Given the description of an element on the screen output the (x, y) to click on. 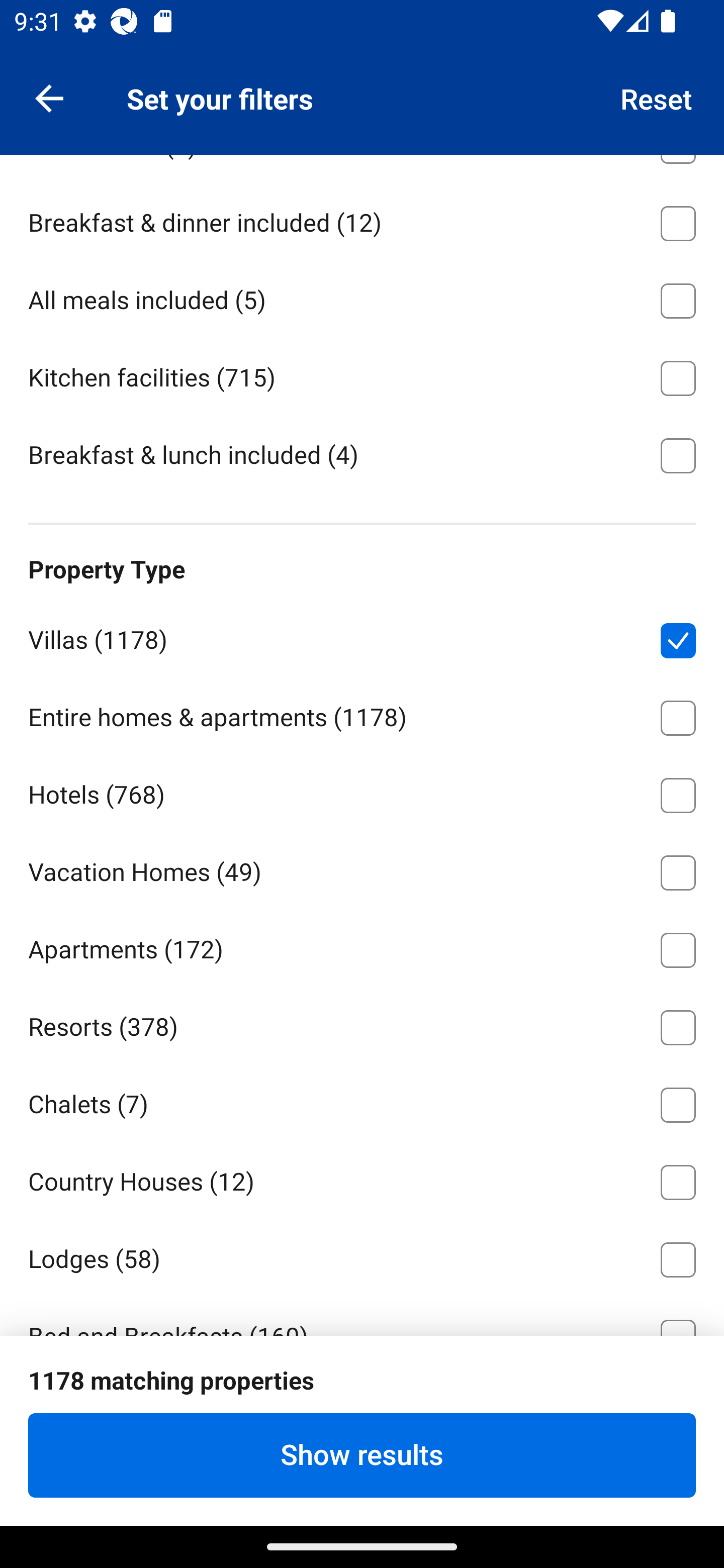
Navigate up (49, 97)
Reset (656, 97)
Breakfast & dinner included ⁦(12) (361, 219)
All meals included ⁦(5) (361, 296)
Kitchen facilities ⁦(715) (361, 374)
Breakfast & lunch included ⁦(4) (361, 453)
Villas ⁦(1178) (361, 636)
Entire homes & apartments ⁦(1178) (361, 713)
Hotels ⁦(768) (361, 791)
Vacation Homes ⁦(49) (361, 869)
Apartments ⁦(172) (361, 946)
Resorts ⁦(378) (361, 1024)
Chalets ⁦(7) (361, 1101)
Country Houses ⁦(12) (361, 1178)
Lodges ⁦(58) (361, 1256)
Show results (361, 1454)
